Given the description of an element on the screen output the (x, y) to click on. 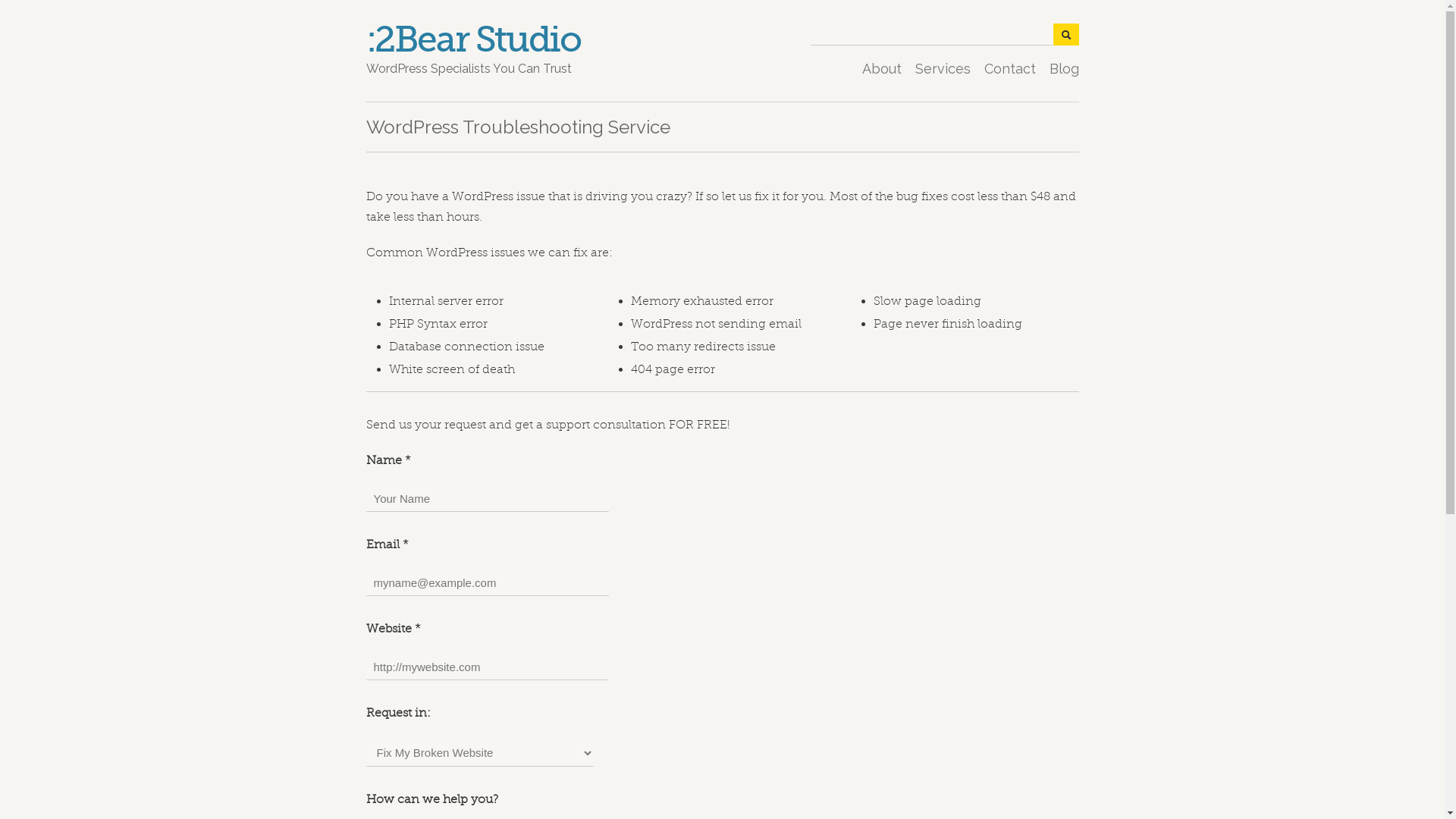
:2Bear Studio Element type: text (472, 39)
Services Element type: text (941, 68)
About Element type: text (880, 68)
Contact Element type: text (1009, 68)
Blog Element type: text (1064, 68)
